Given the description of an element on the screen output the (x, y) to click on. 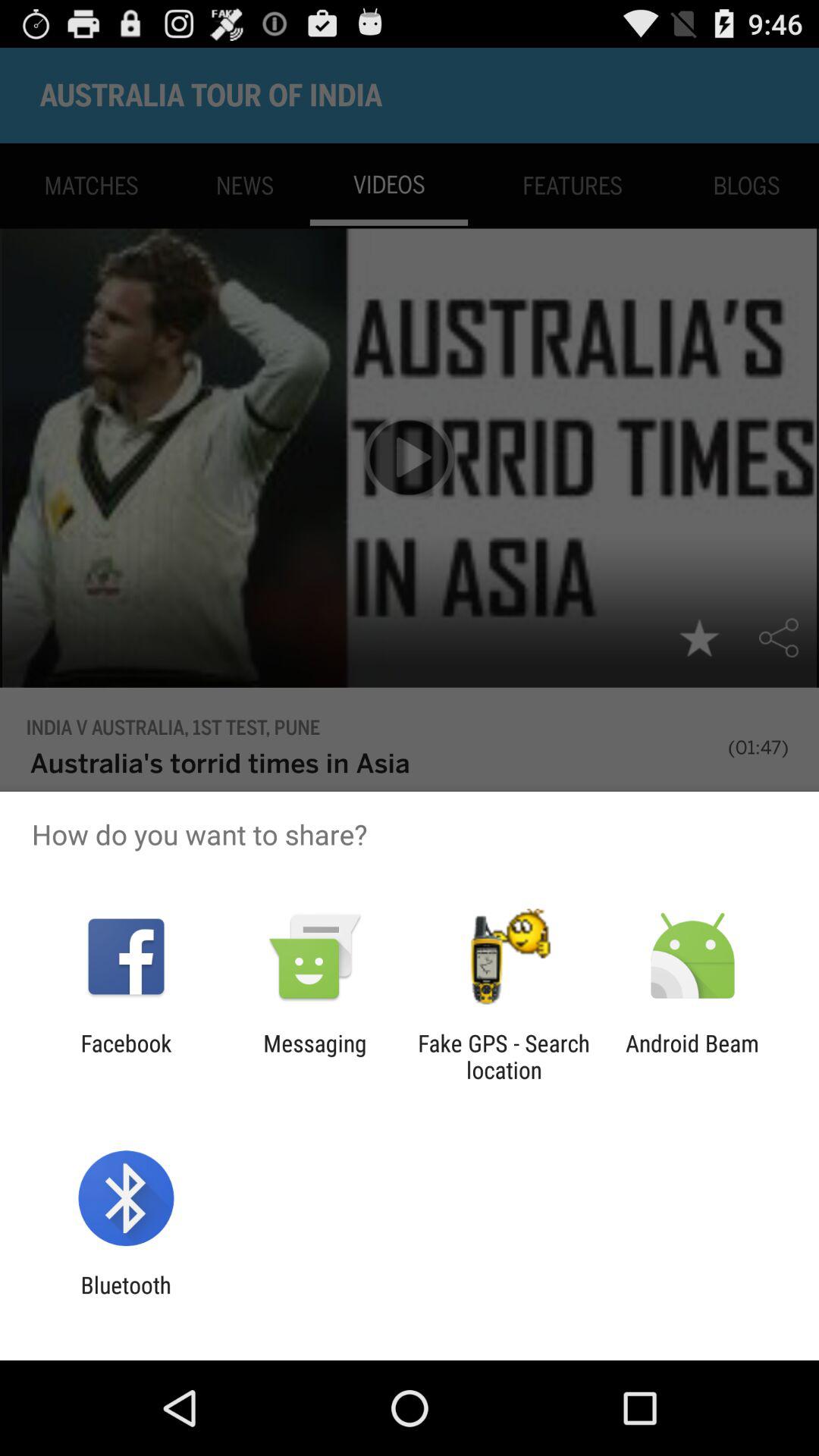
choose the icon to the left of messaging (125, 1056)
